Given the description of an element on the screen output the (x, y) to click on. 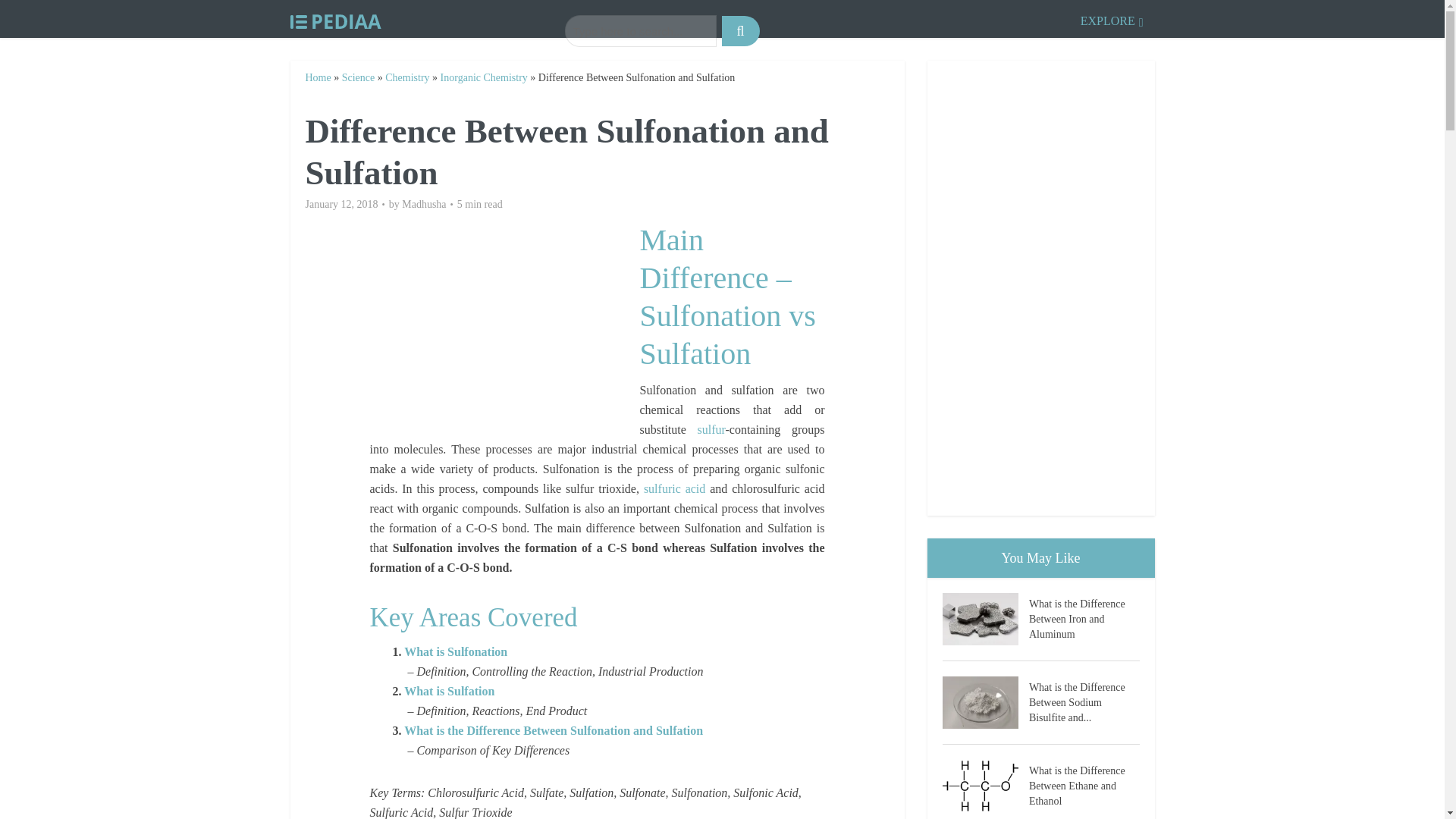
Advertisement (504, 327)
EXPLORE (1111, 18)
Science (358, 77)
Pediaa.Com (334, 18)
Type here to search... (640, 30)
What is the Difference Between Iron and Aluminum (1084, 617)
Inorganic Chemistry (484, 77)
What is Sulfonation (455, 651)
Home (317, 77)
sulfuric acid (673, 488)
